Given the description of an element on the screen output the (x, y) to click on. 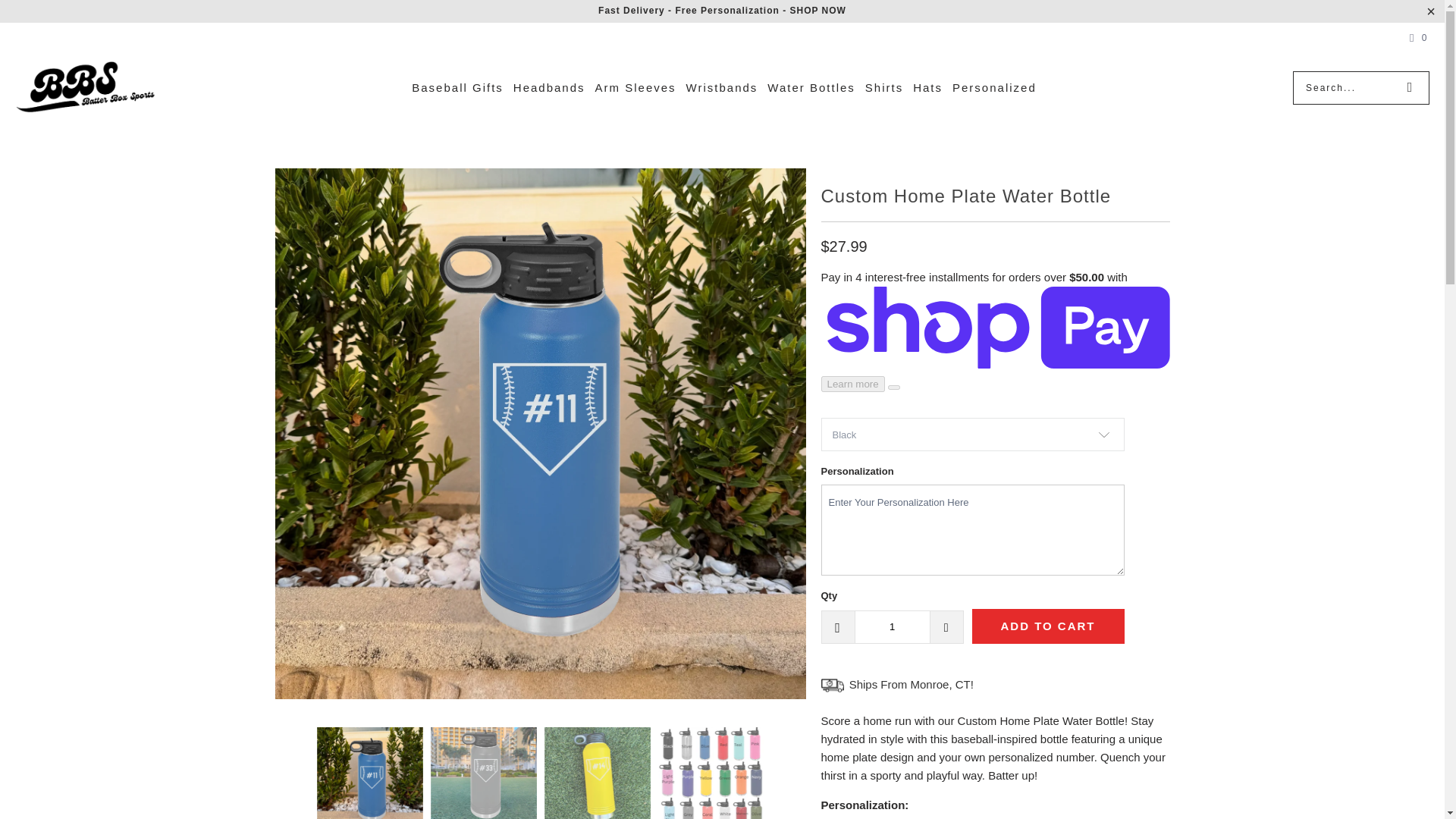
1 (891, 626)
Headbands (549, 88)
Water Bottles (810, 88)
Wristbands (721, 88)
Batter Box Sports (84, 87)
Arm Sleeves (636, 88)
Shirts (883, 88)
Baseball Gifts (457, 88)
